Given the description of an element on the screen output the (x, y) to click on. 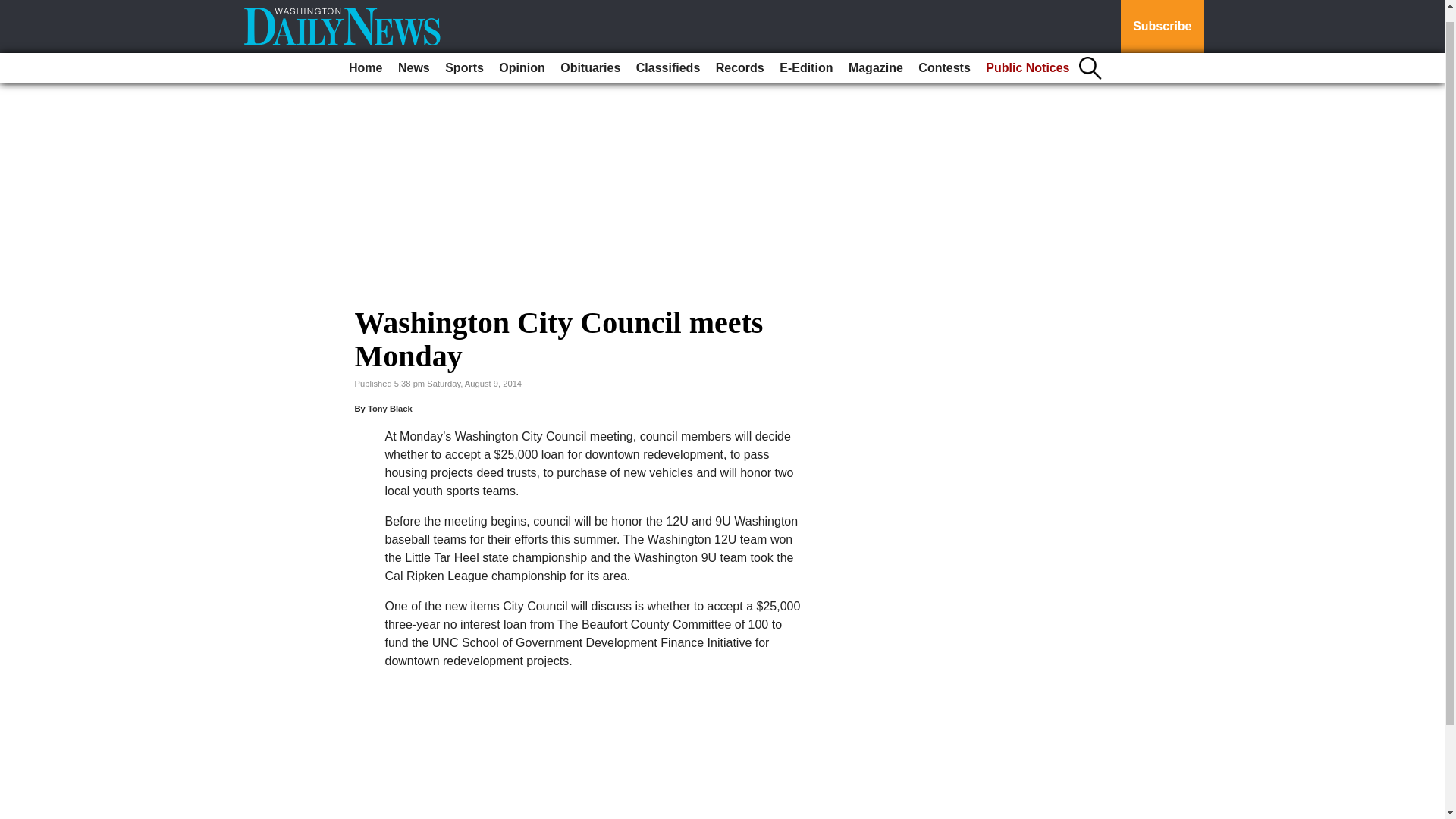
E-Edition (805, 55)
Obituaries (590, 55)
Go (13, 2)
Tony Black (390, 408)
Public Notices (1027, 55)
Subscribe (1162, 20)
Magazine (875, 55)
Home (365, 55)
Records (740, 55)
News (413, 55)
